Given the description of an element on the screen output the (x, y) to click on. 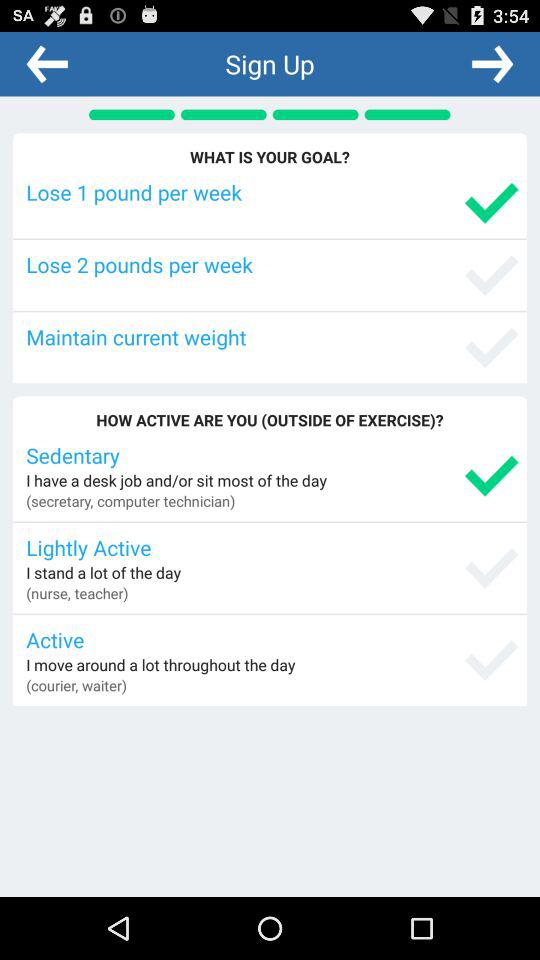
tap the app above the how active are item (272, 336)
